Given the description of an element on the screen output the (x, y) to click on. 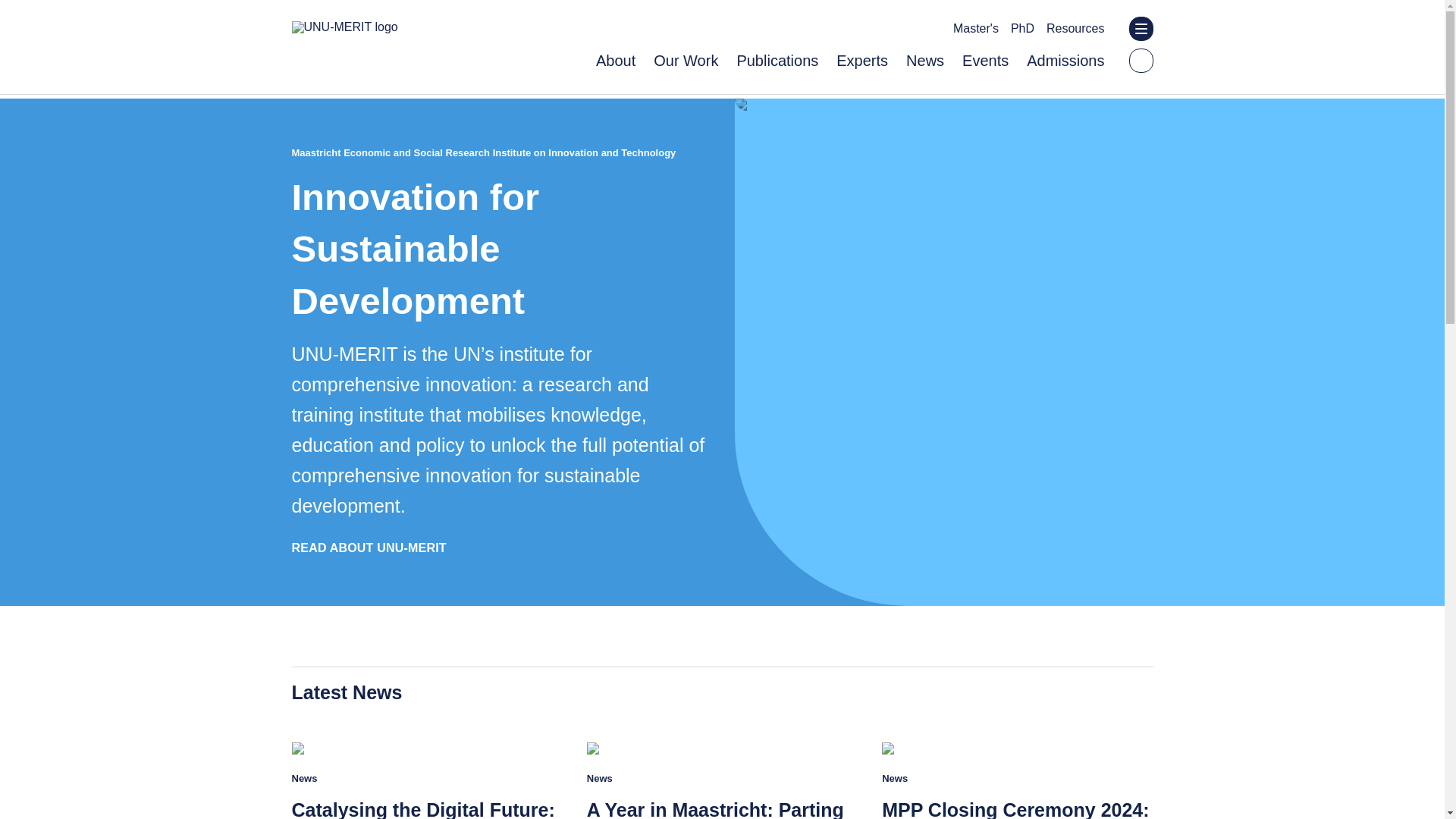
Admissions (1064, 60)
News (924, 60)
Experts (861, 60)
Publications (777, 60)
Resources (1074, 28)
UNU-MERIT building in Maastricht (852, 104)
Events (985, 60)
Master's (975, 28)
Go back to the homepage (344, 26)
